Given the description of an element on the screen output the (x, y) to click on. 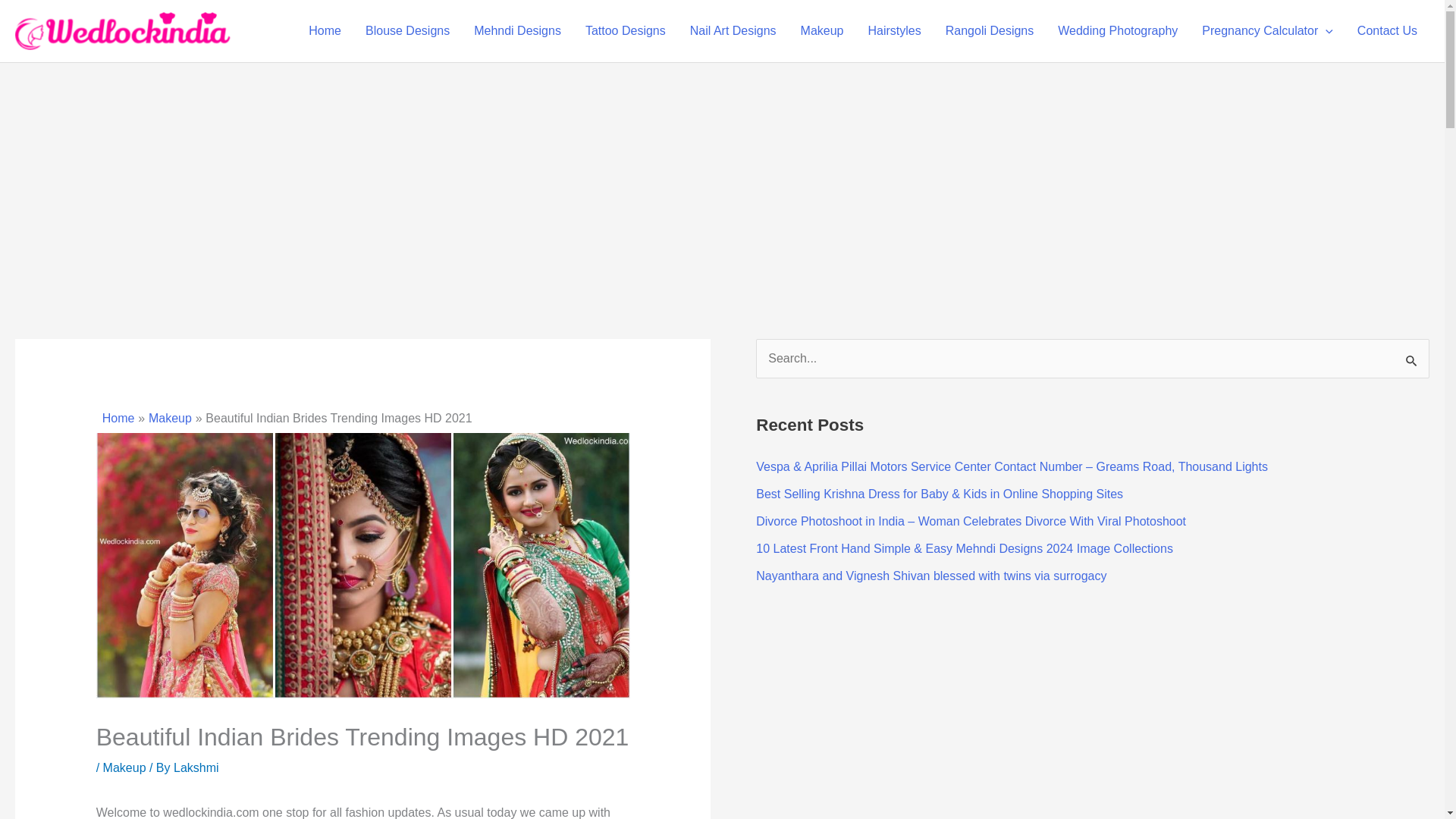
Home (325, 30)
Tattoo Designs (625, 30)
Makeup (125, 767)
View all posts by Lakshmi (196, 767)
Makeup (822, 30)
Wedding Photography (1117, 30)
Makeup (170, 418)
Lakshmi (196, 767)
Home (118, 418)
Mehndi Designs (517, 30)
Contact Us (1387, 30)
Blouse Designs (407, 30)
Pregnancy Calculator (1267, 30)
Hairstyles (894, 30)
Rangoli Designs (989, 30)
